Given the description of an element on the screen output the (x, y) to click on. 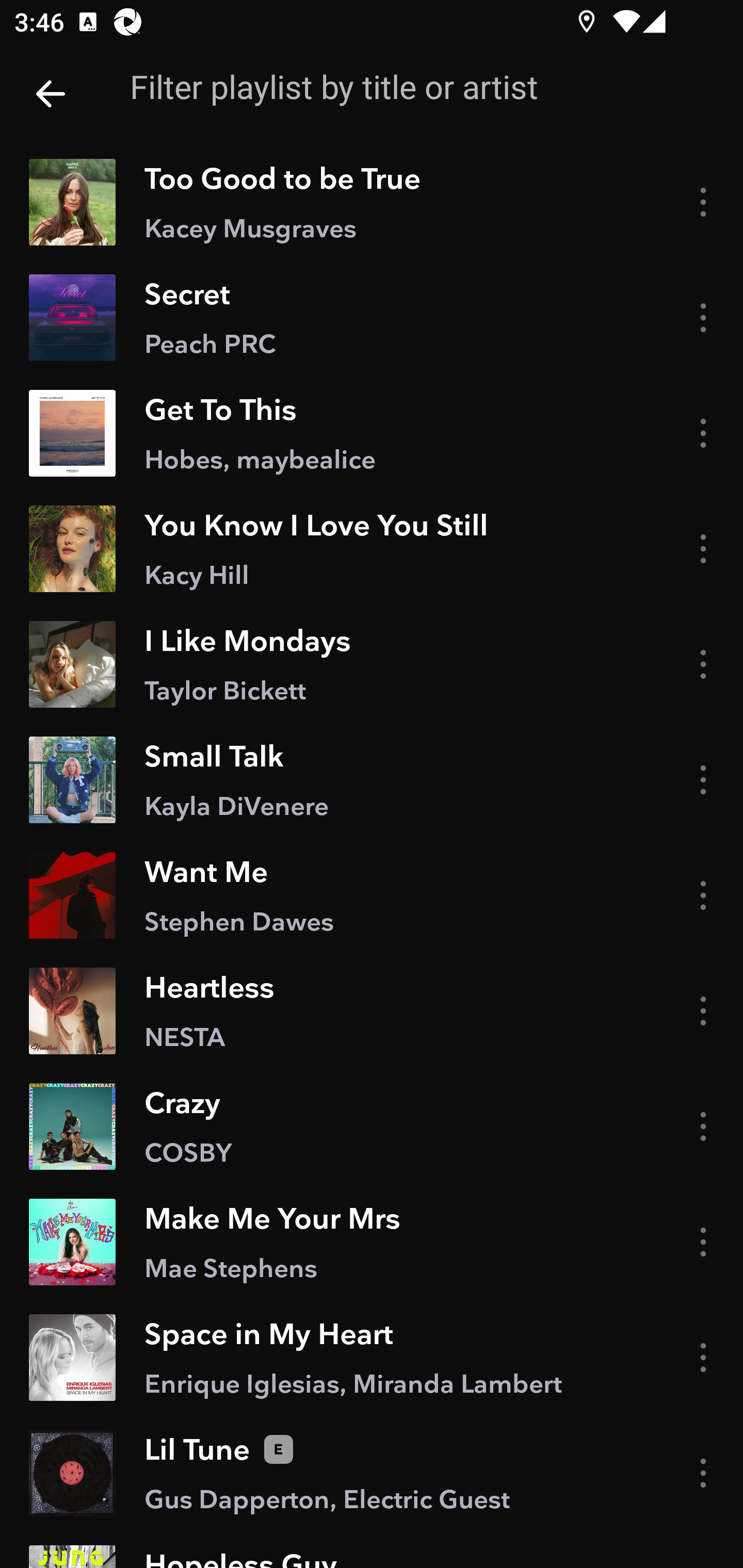
Filter playlist by title or artist (407, 87)
Too Good to be True Kacey Musgraves (371, 202)
Secret Peach PRC (371, 317)
Get To This Hobes, maybealice (371, 432)
You Know I Love You Still Kacy Hill (371, 548)
I Like Mondays Taylor Bickett (371, 664)
Small Talk Kayla DiVenere (371, 779)
Want Me Stephen Dawes (371, 895)
Heartless NESTA (371, 1011)
Crazy COSBY (371, 1126)
Make Me Your Mrs Mae Stephens (371, 1241)
Lil Tune Gus Dapperton, Electric Guest (371, 1472)
